Given the description of an element on the screen output the (x, y) to click on. 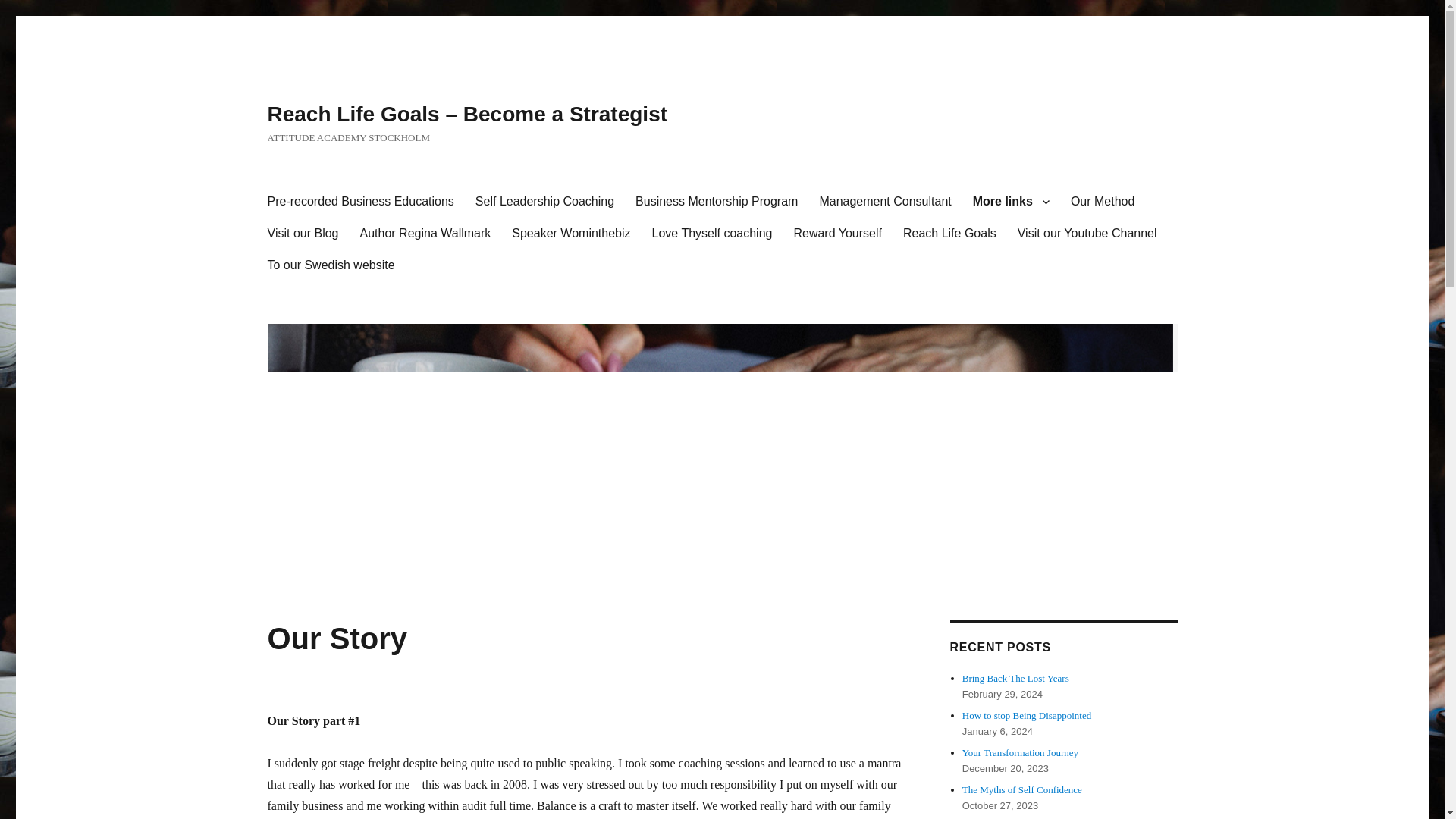
Pre-recorded Business Educations (360, 201)
Bring Back The Lost Years  (1016, 677)
Author Regina Wallmark (424, 233)
How to stop Being Disappointed (1026, 715)
Our Method (1101, 201)
Your Transformation Journey (1020, 752)
Speaker Wominthebiz (570, 233)
To our Swedish website (330, 265)
More links (1010, 201)
Reward Yourself (837, 233)
